Given the description of an element on the screen output the (x, y) to click on. 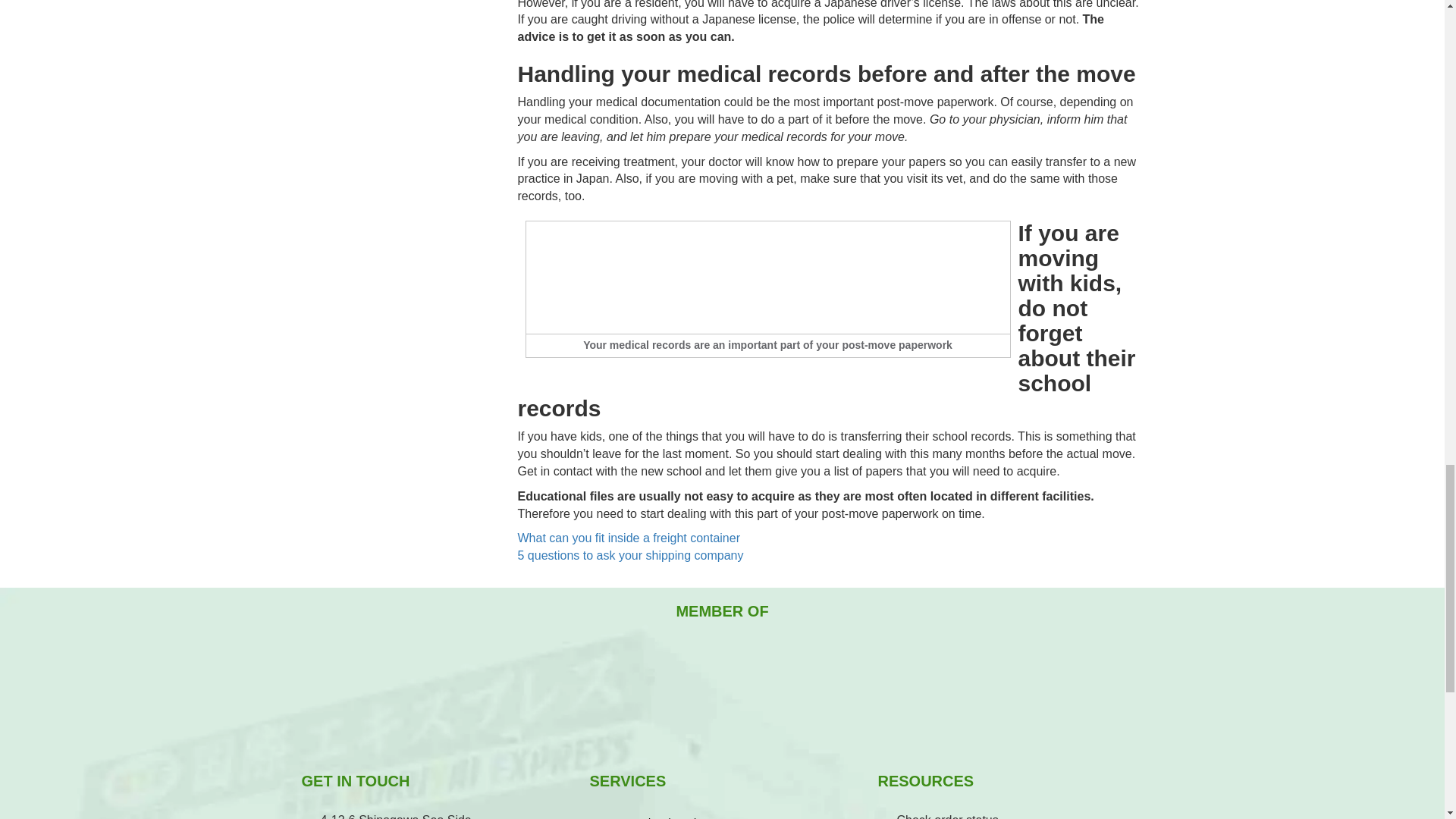
What can you fit inside a freight container (627, 537)
5 questions to ask your shipping company (629, 554)
